Given the description of an element on the screen output the (x, y) to click on. 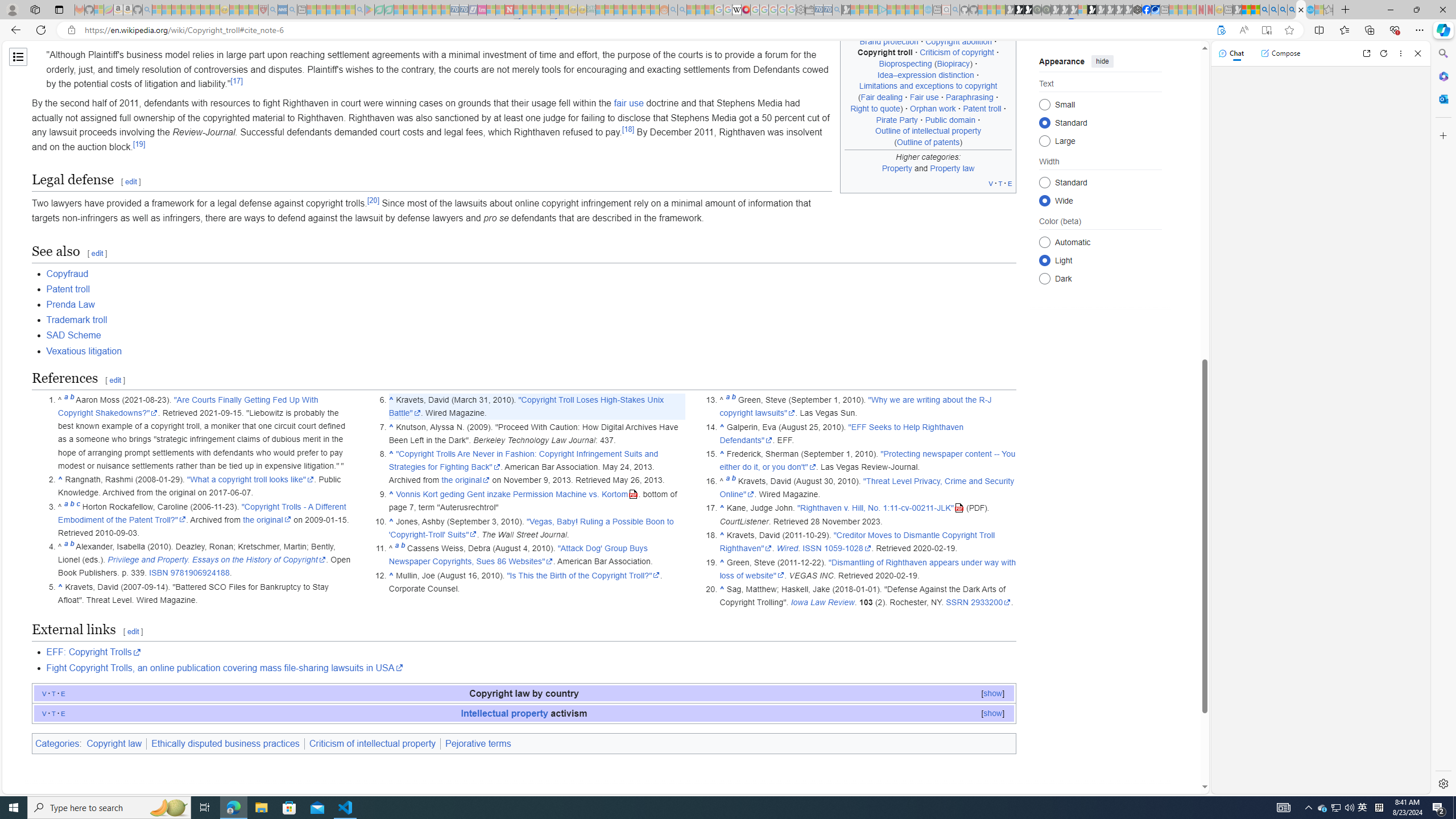
Copyfraud (67, 273)
Enter Immersive Reader (F9) (1266, 29)
Dark (1044, 278)
Wide (1044, 200)
SAD Scheme (531, 335)
Microsoft Start - Sleeping (908, 9)
Microsoft account | Privacy - Sleeping (872, 9)
Copyright law (113, 742)
